Given the description of an element on the screen output the (x, y) to click on. 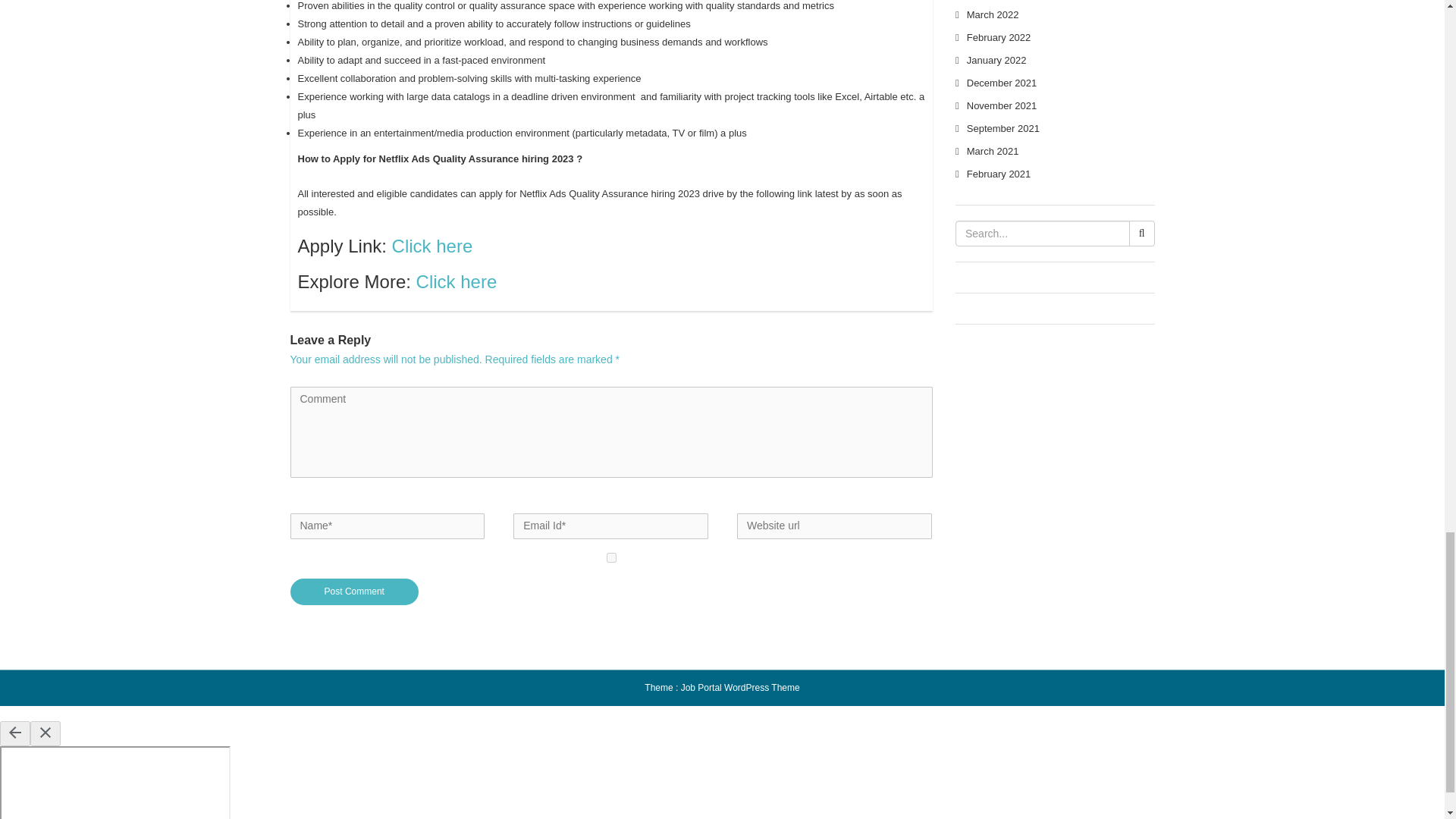
Post Comment (354, 591)
Post Comment (354, 591)
yes (611, 557)
Click here (432, 245)
Click here (456, 281)
